Given the description of an element on the screen output the (x, y) to click on. 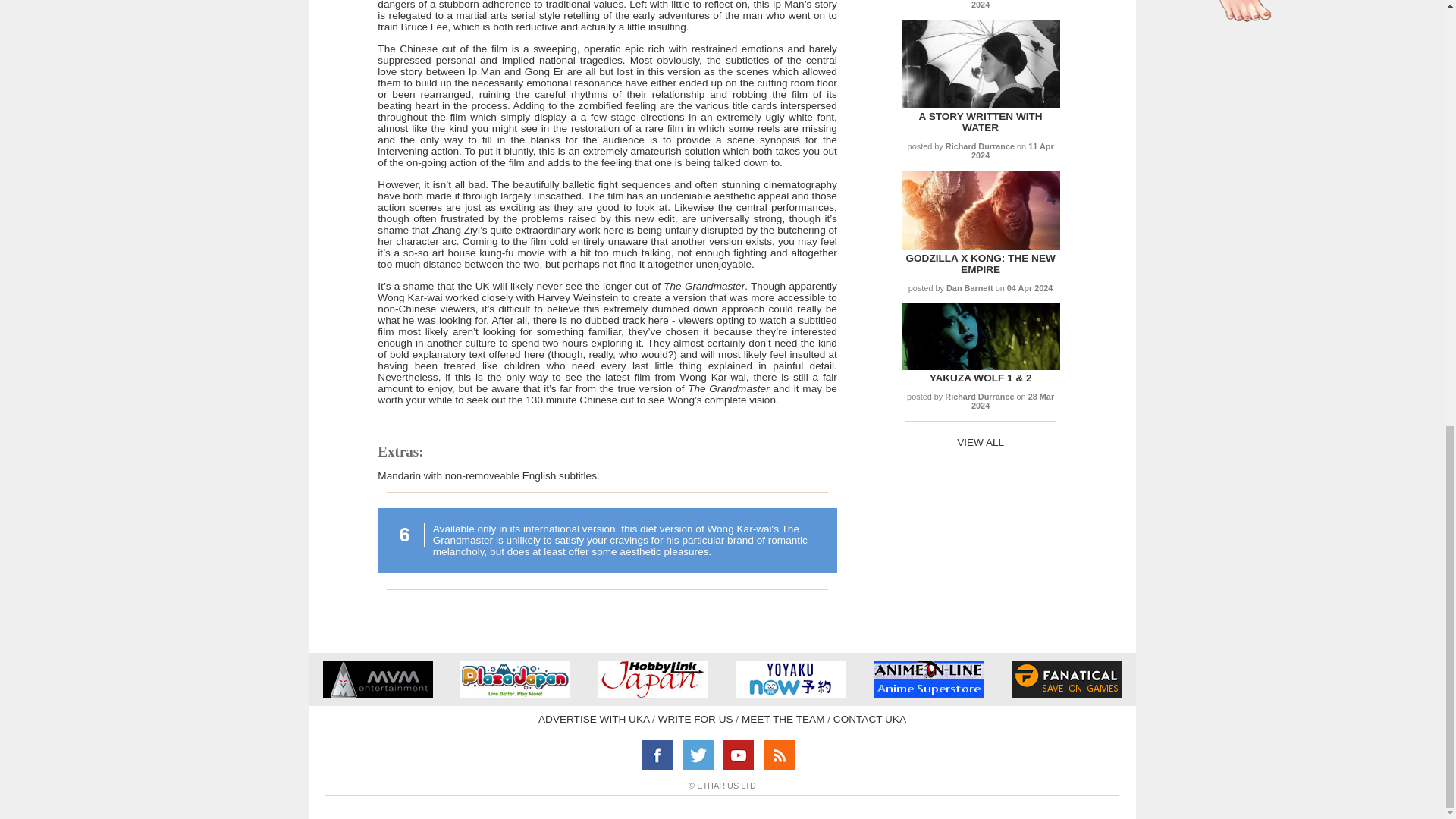
VIEW ALL (980, 441)
GODZILLA X KONG: THE NEW EMPIRE (979, 263)
A Story Written with Water (980, 104)
Godzilla x Kong: The New Empire (979, 263)
WRITE FOR US (695, 718)
A STORY WRITTEN WITH WATER (980, 121)
Godzilla x Kong: The New Empire (980, 246)
A Story Written with Water (980, 121)
ADVERTISE WITH UKA (593, 718)
Anime Distributor (377, 695)
